Given the description of an element on the screen output the (x, y) to click on. 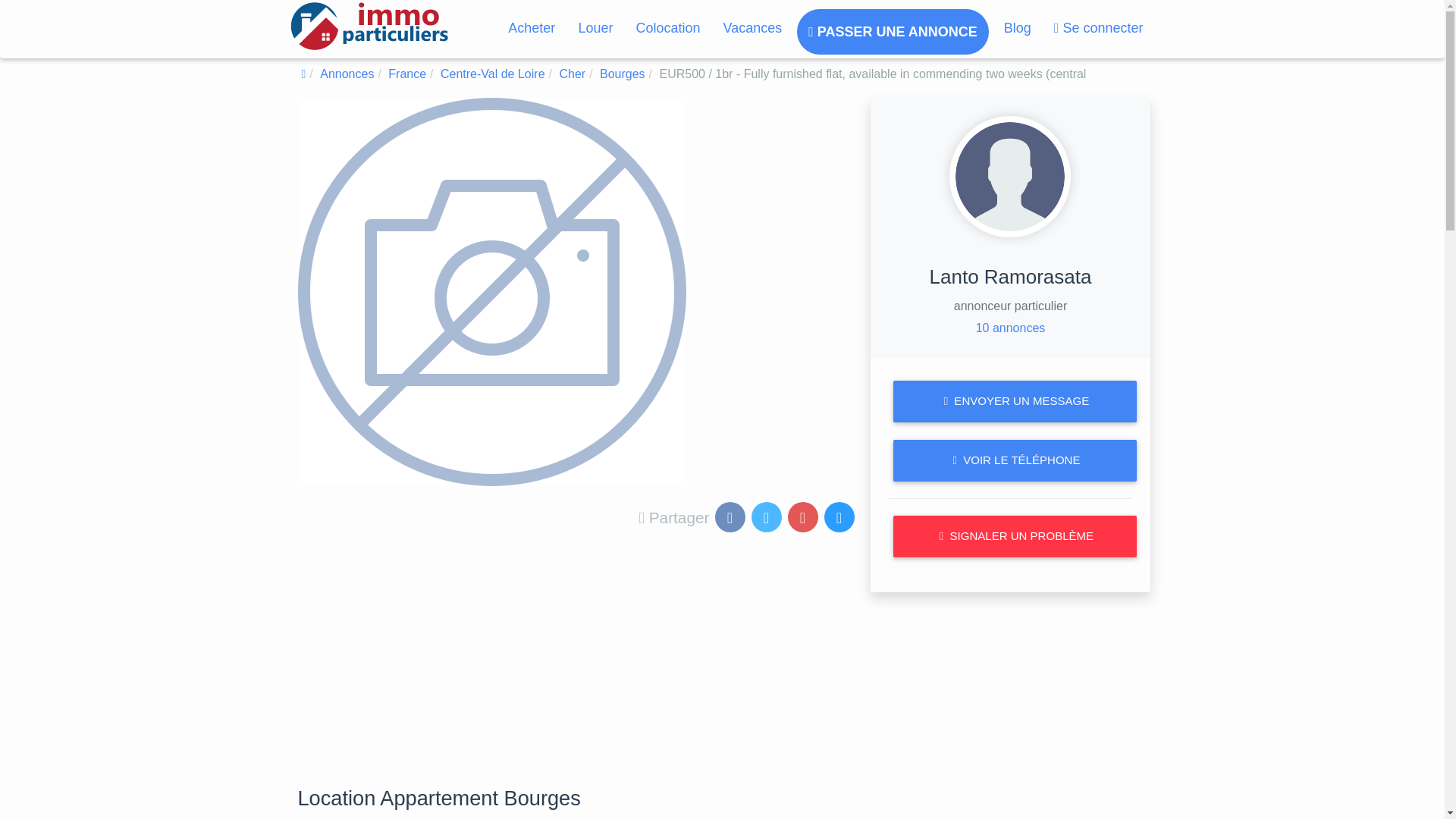
Partager sur Linkedin (840, 518)
Blog (1017, 27)
Annonces (347, 73)
Toutes les petites annonces de l'annonceur 138925 (1010, 327)
Partager sur Facebook (731, 518)
Colocation (667, 27)
Annonces (347, 73)
Louer (595, 27)
Annonces France Centre-Val de Loire Cher Bourges (622, 73)
Vacances (752, 27)
France (407, 73)
ENVOYER UN MESSAGE (1015, 401)
Bourges (622, 73)
Le blog Immo entre particuliers (1017, 27)
Acheter (531, 27)
